Given the description of an element on the screen output the (x, y) to click on. 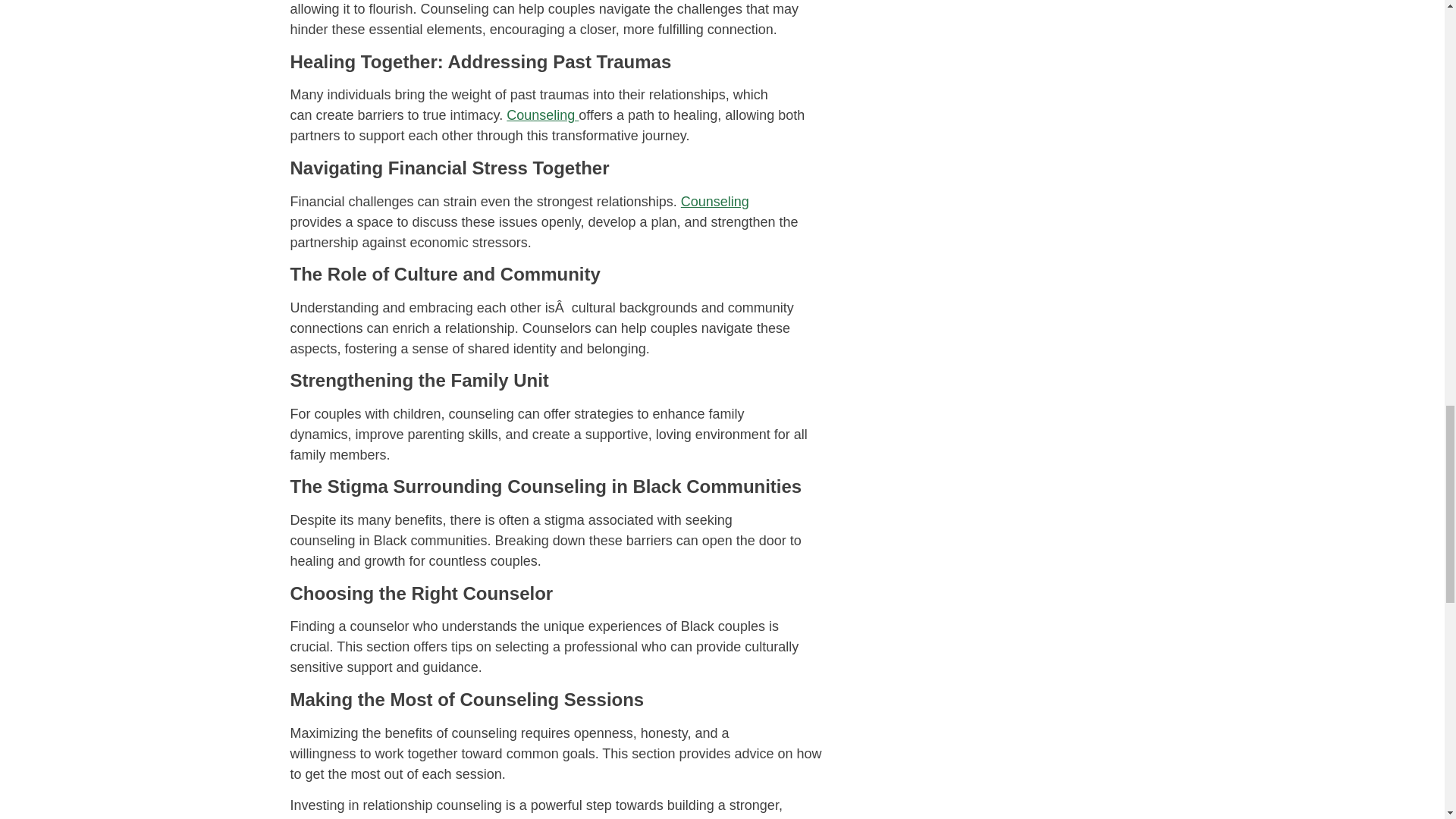
Counseling (542, 114)
Counseling (715, 201)
